Given the description of an element on the screen output the (x, y) to click on. 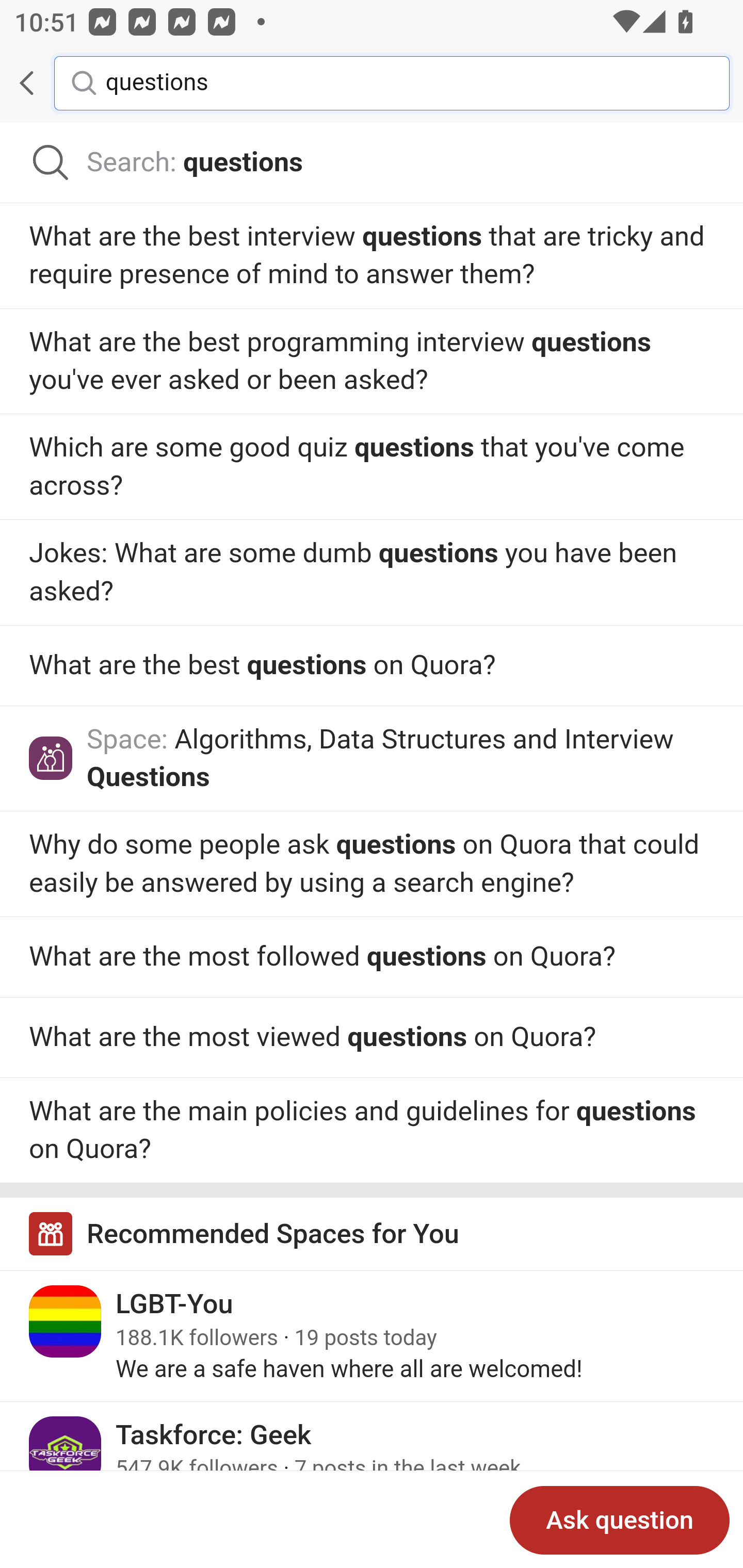
Me Home Search Add (371, 82)
questions (402, 82)
Search: ques (371, 162)
How do I get started using Quora? (371, 466)
What are some of the best answers on Quora? (371, 864)
What are the best questions on Quora? (371, 1037)
Icon for LGBT-You (65, 1322)
Icon for Taskforce: Geek (65, 1452)
